Given the description of an element on the screen output the (x, y) to click on. 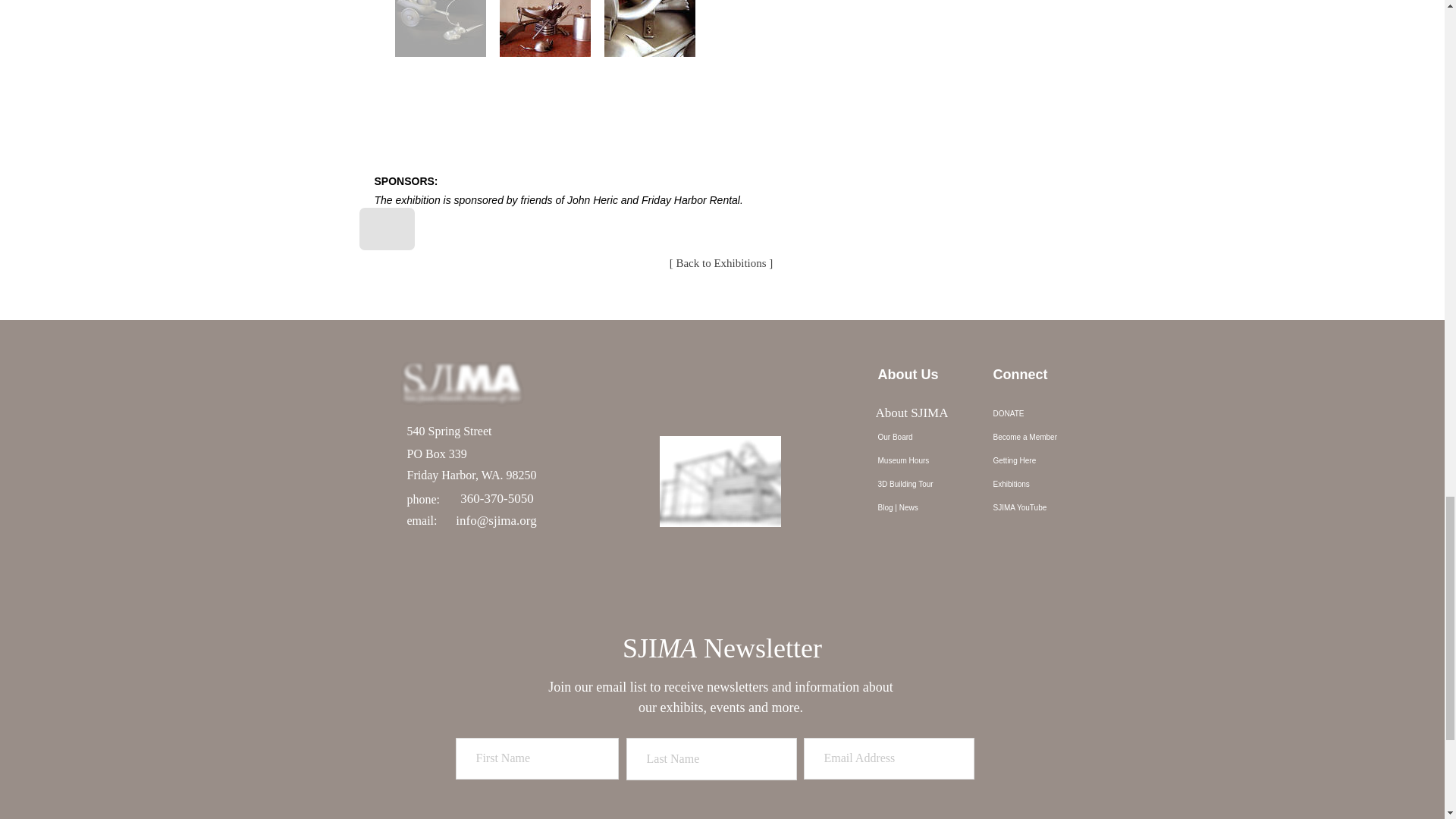
About SJIMA (911, 413)
About Us (926, 413)
Exhibitions (1042, 484)
DONATE (1042, 413)
SJIMA YouTube (1042, 507)
Museum Hours (926, 460)
Become a Member (1042, 436)
360-370-5050 (497, 498)
3D Building Tour (926, 484)
Getting Here (1042, 460)
Our Board (926, 436)
